Given the description of an element on the screen output the (x, y) to click on. 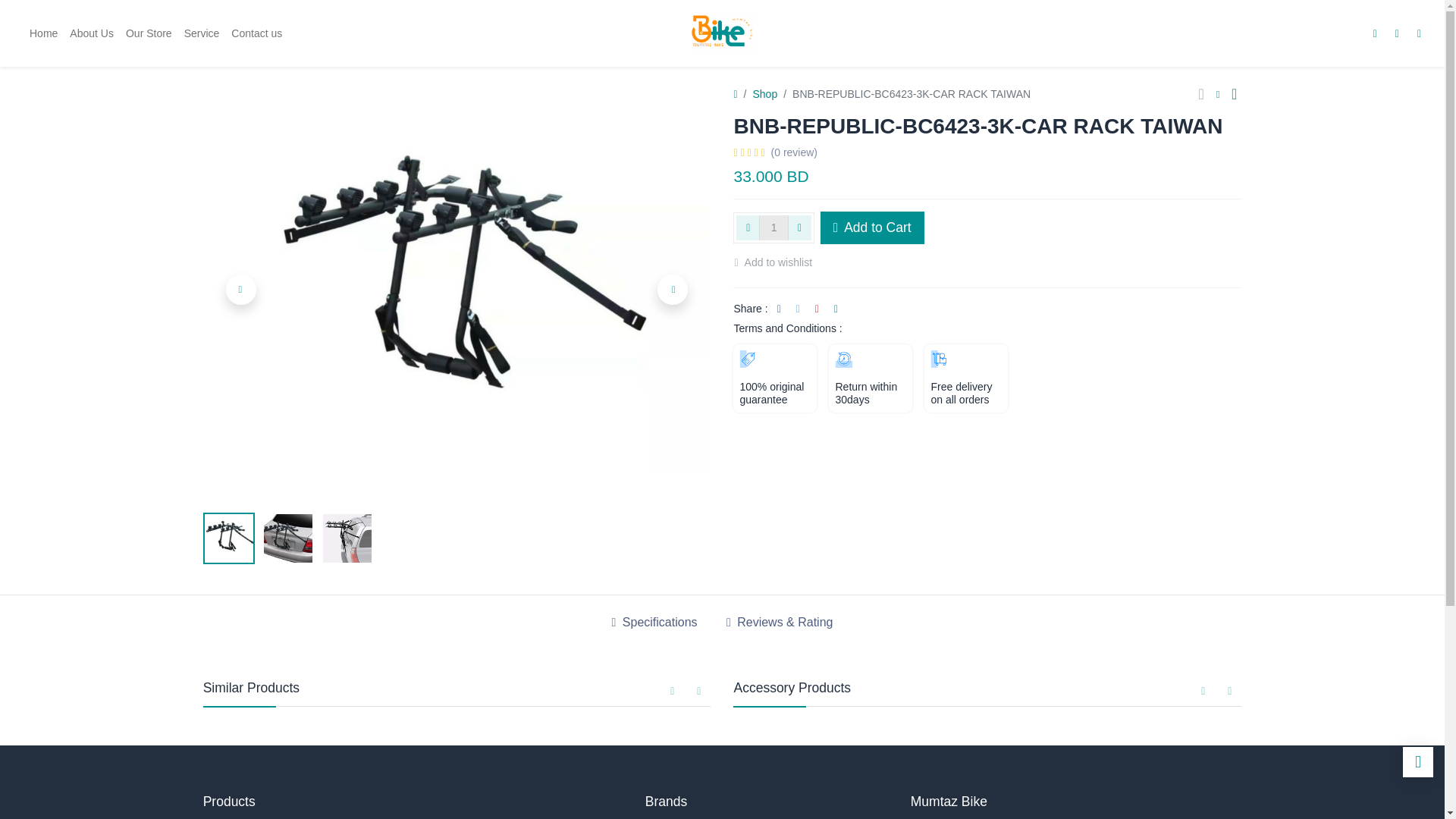
Next (672, 289)
Add to wishlist (779, 263)
Home (43, 33)
Previous (240, 289)
Our Store (148, 33)
Remove one (748, 227)
Add one (798, 227)
About Us (91, 33)
Contact us (256, 33)
1 (773, 227)
Service (201, 33)
Mumtaz Bike (722, 33)
